Given the description of an element on the screen output the (x, y) to click on. 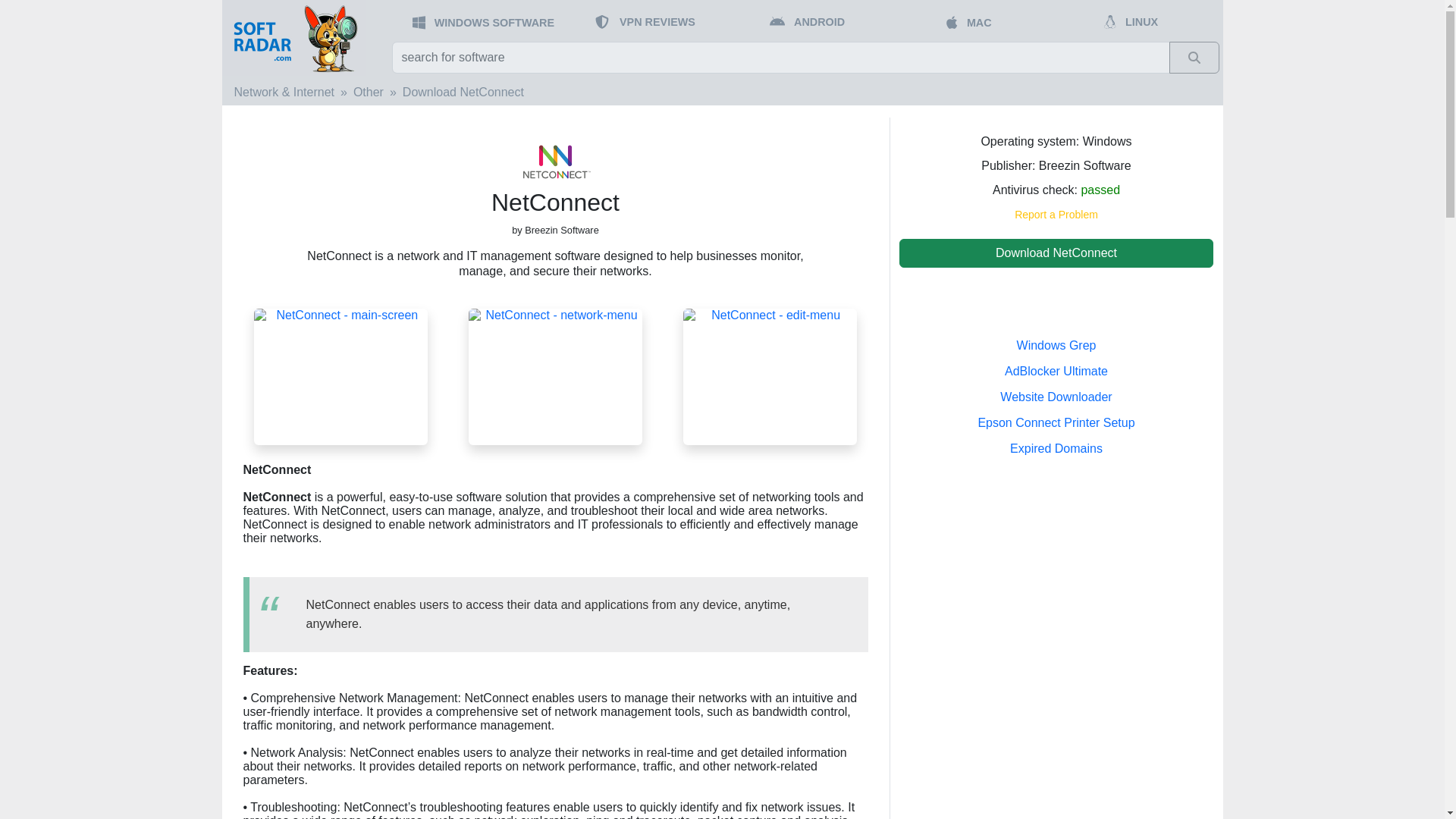
NetConnect - main-screen (340, 375)
Website Downloader (1056, 396)
Epson Connect Printer Setup (1055, 422)
Report a Problem (1055, 214)
Expired Domains (1056, 448)
Expired Domains (1056, 448)
Website Downloader (1056, 396)
Search (1194, 57)
Windows Grep (1056, 345)
Download NetConnect (1056, 253)
